Given the description of an element on the screen output the (x, y) to click on. 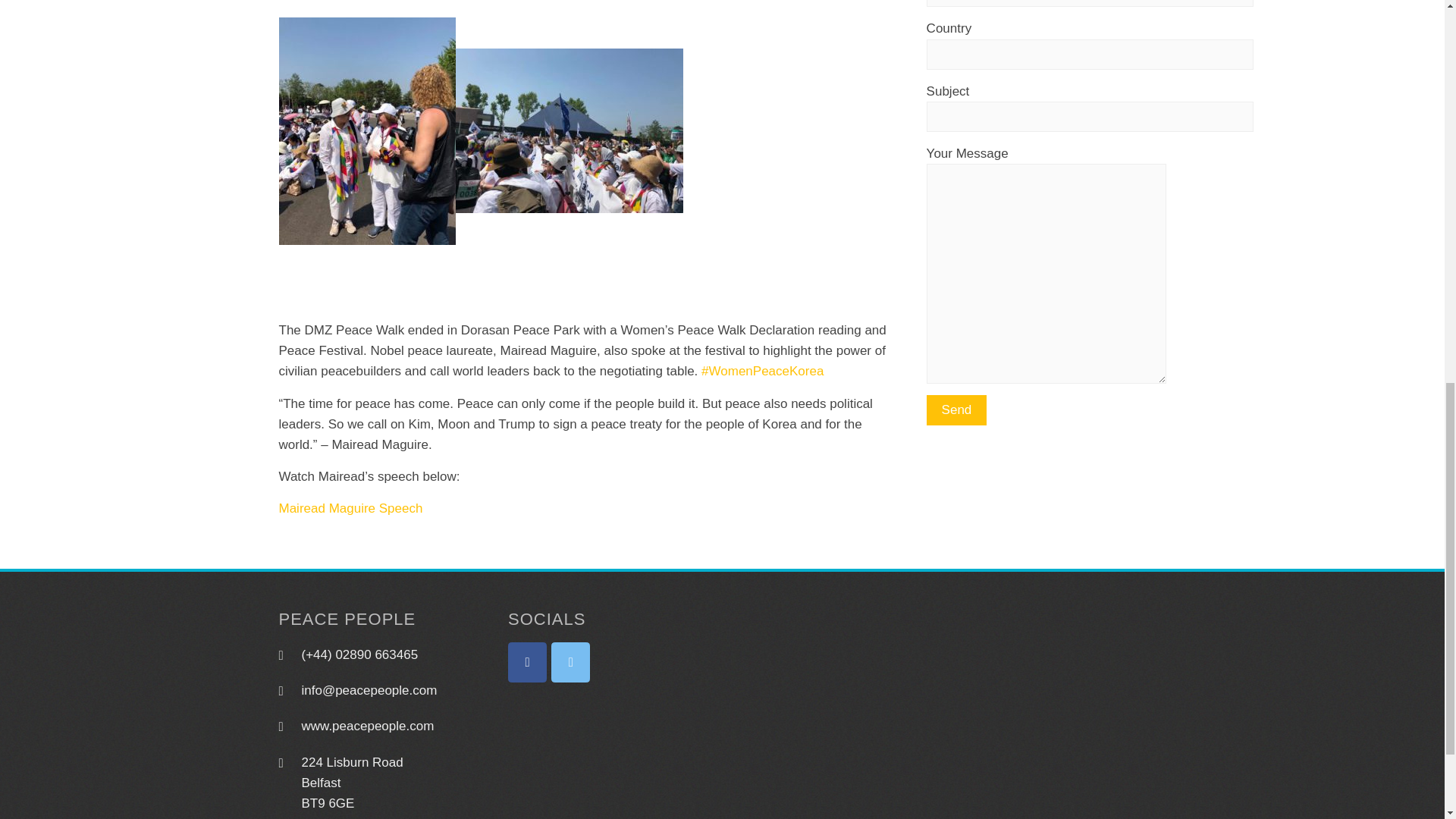
The Peace People on Twitter (570, 662)
Send (956, 409)
Mairead Maguire Speech (351, 508)
The Peace People on Facebook (527, 662)
Send (956, 409)
